Given the description of an element on the screen output the (x, y) to click on. 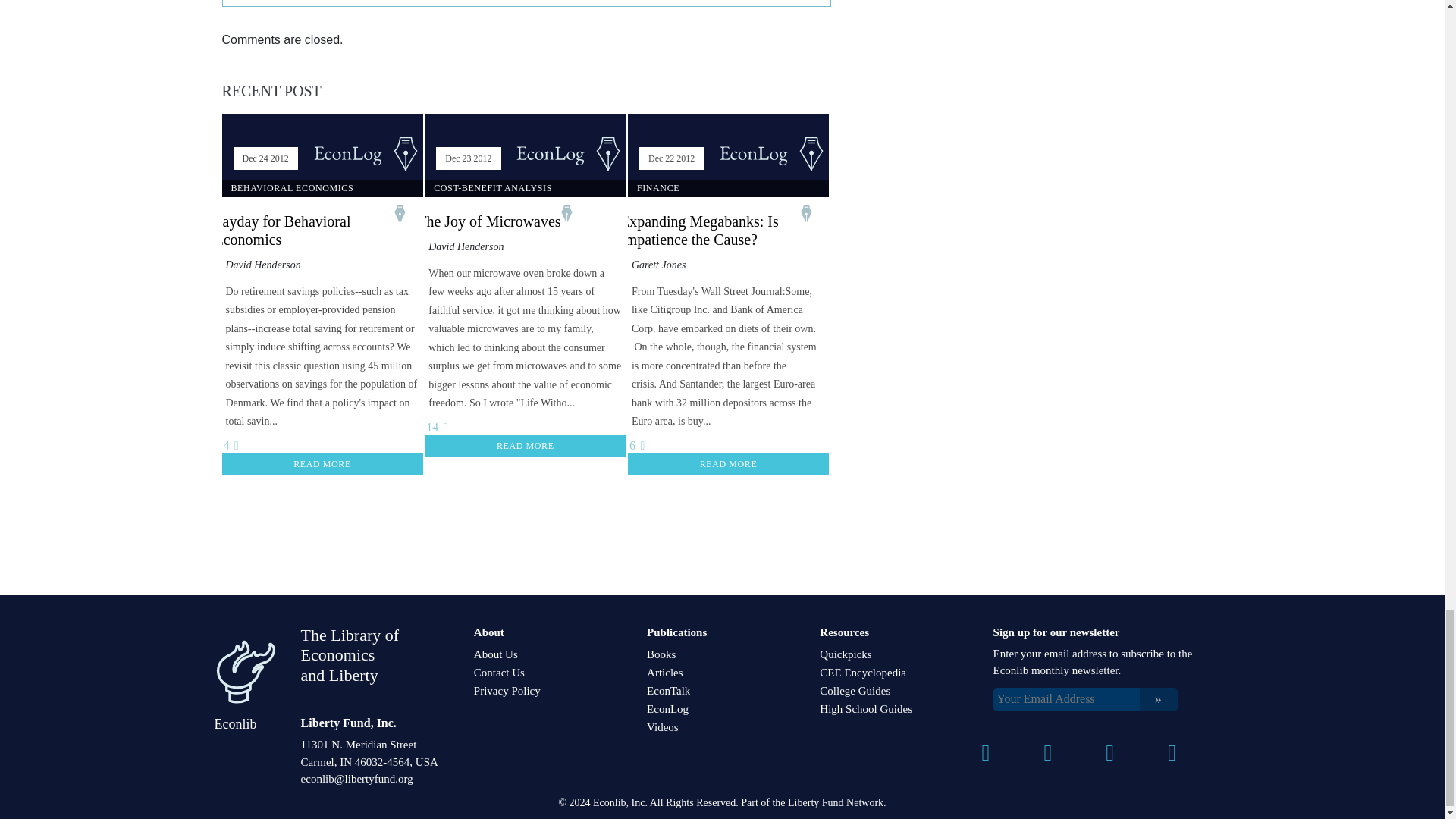
David Henderson (263, 265)
David Henderson (465, 246)
Garett Jones (658, 265)
